Given the description of an element on the screen output the (x, y) to click on. 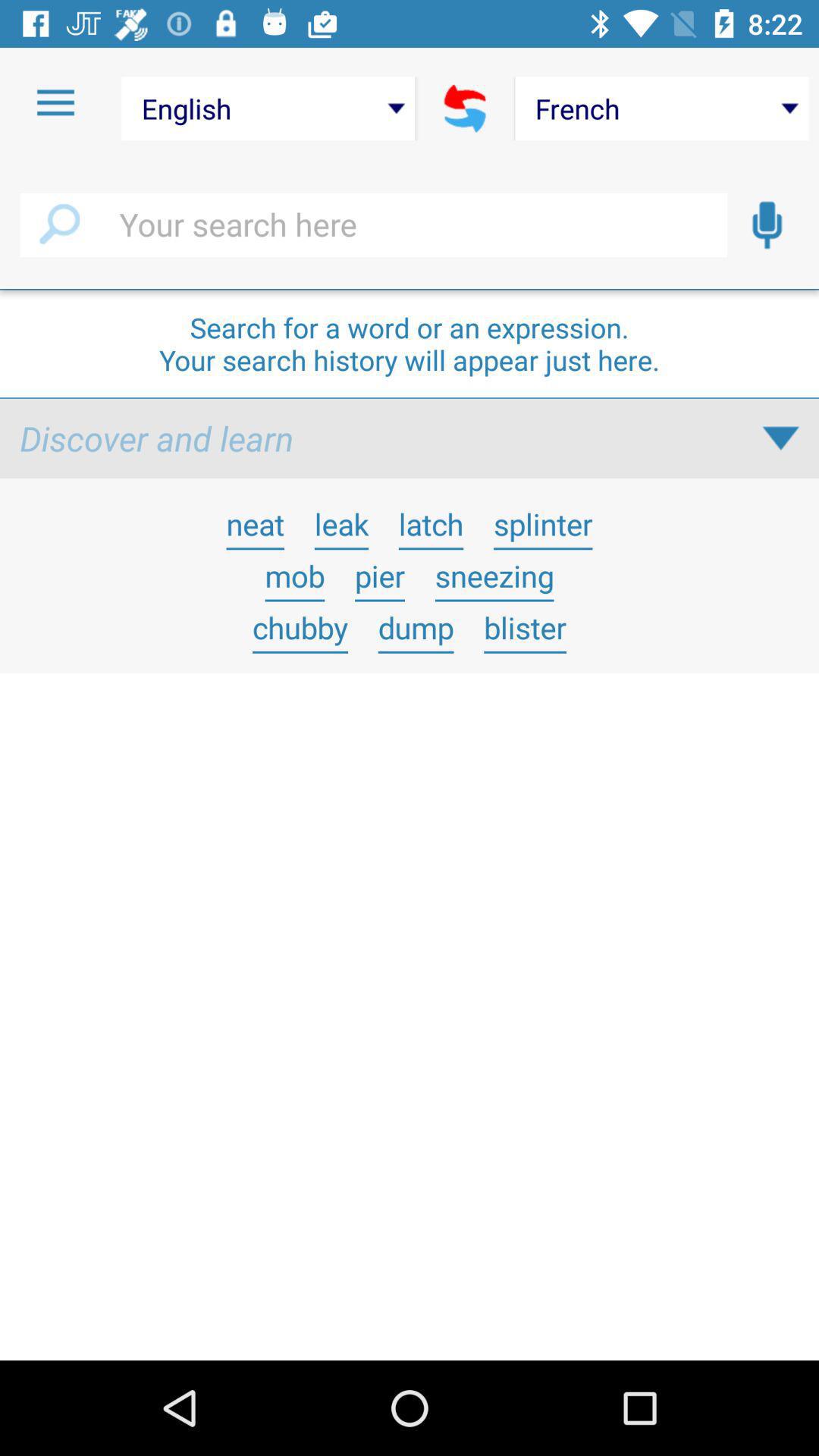
switch origin language (465, 108)
